Given the description of an element on the screen output the (x, y) to click on. 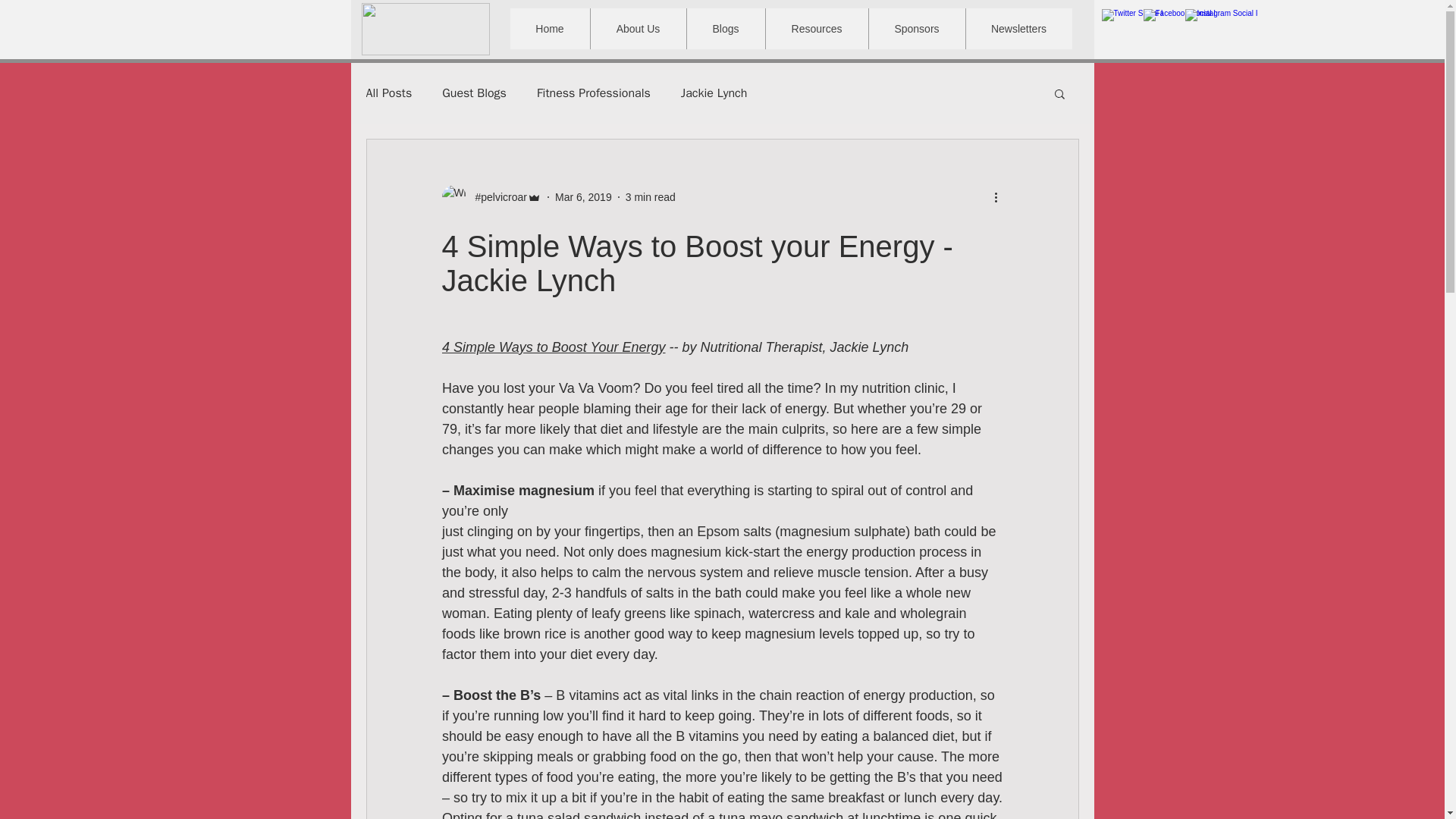
Newsletters (1017, 28)
Fitness Professionals (593, 92)
Sponsors (915, 28)
Guest Blogs (474, 92)
Jackie Lynch (714, 92)
Blogs (724, 28)
All Posts (388, 92)
3 min read (650, 196)
Mar 6, 2019 (582, 196)
Home (549, 28)
